Given the description of an element on the screen output the (x, y) to click on. 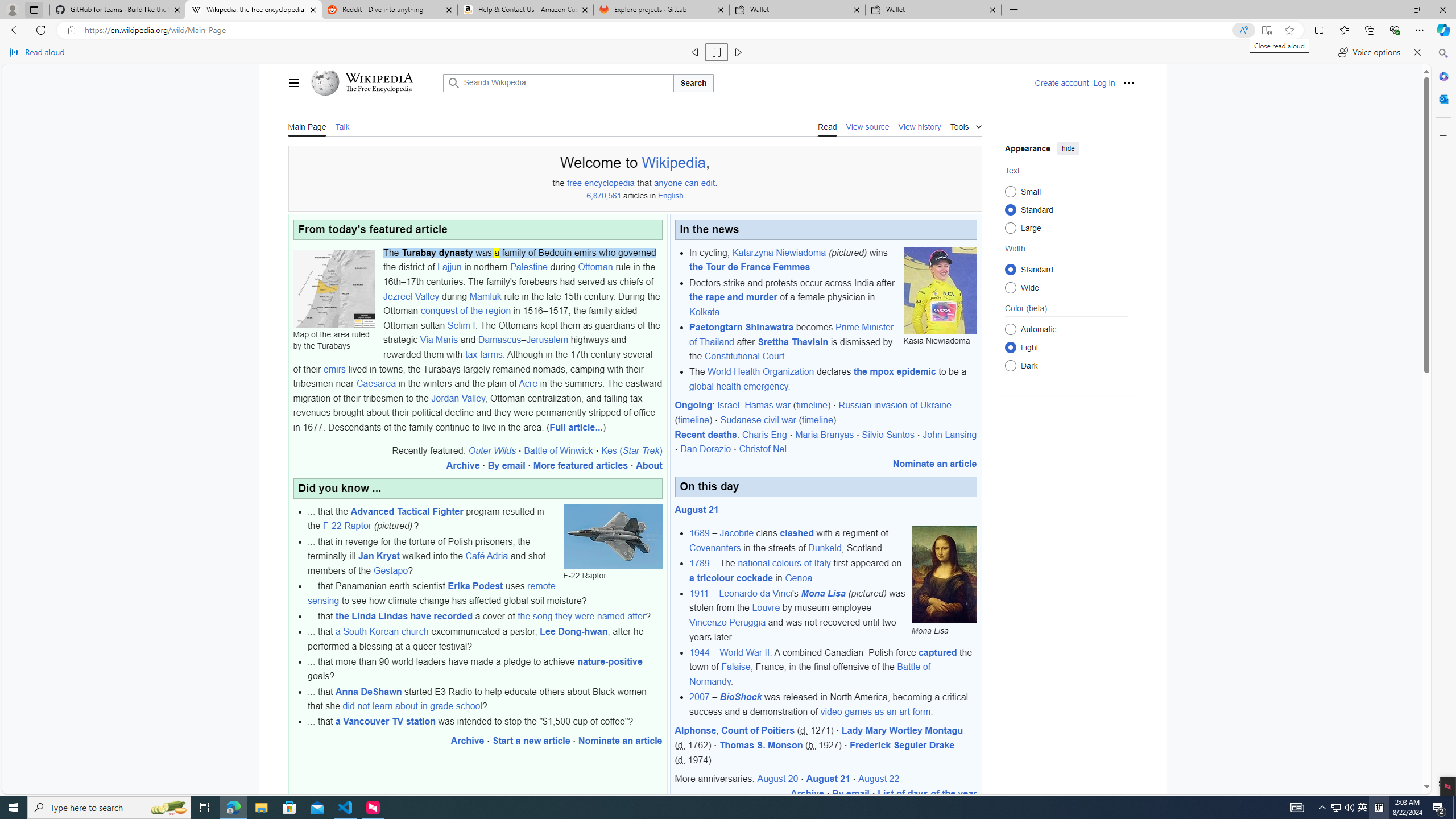
Constitutional Court (744, 356)
Wikipedia, the free encyclopedia (253, 9)
Kes (Star Trek) (631, 450)
The Free Encyclopedia (379, 89)
August 20 (777, 778)
1944 (699, 652)
Standard (1010, 269)
Close read aloud (1417, 52)
Wide (1010, 287)
Recent deaths (705, 434)
